Given the description of an element on the screen output the (x, y) to click on. 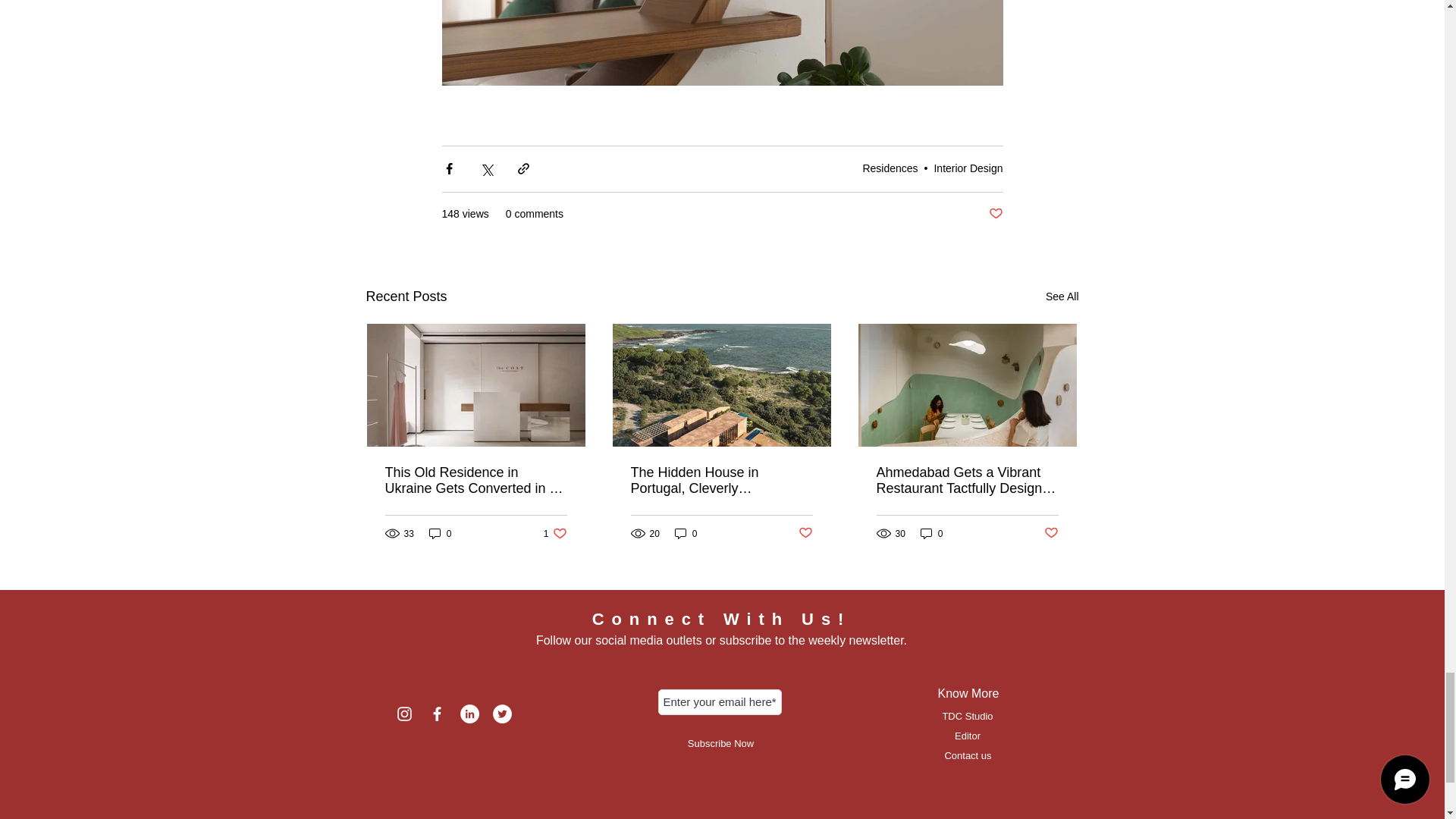
Post not marked as liked (995, 213)
Residences (889, 168)
Interior Design (968, 168)
See All (1061, 296)
0 (440, 533)
